Given the description of an element on the screen output the (x, y) to click on. 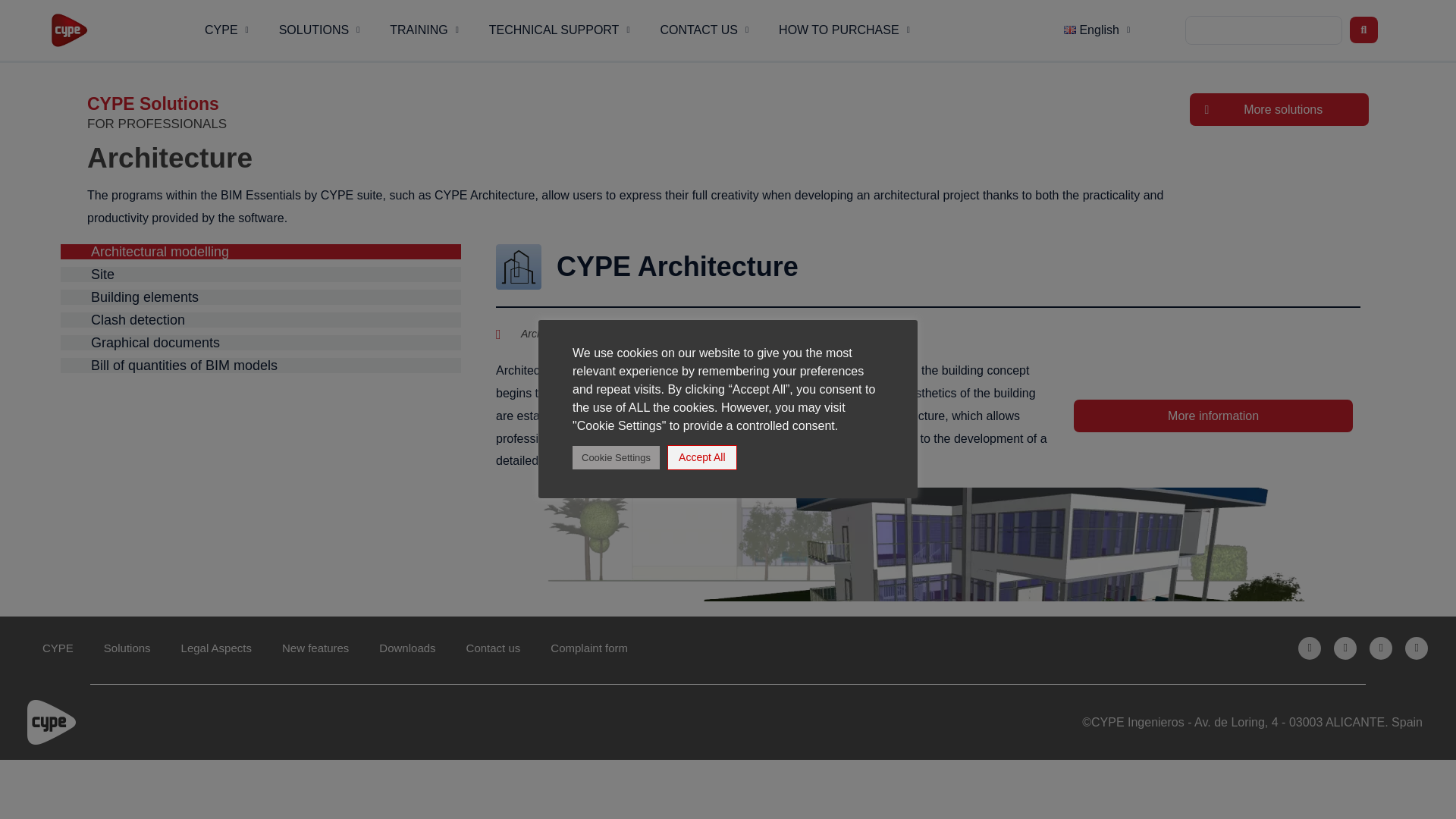
TRAINING (424, 30)
TECHNICAL SUPPORT (559, 30)
SOLUTIONS (319, 30)
CONTACT US (703, 30)
HOW TO PURCHASE (843, 30)
CYPE (226, 30)
